Given the description of an element on the screen output the (x, y) to click on. 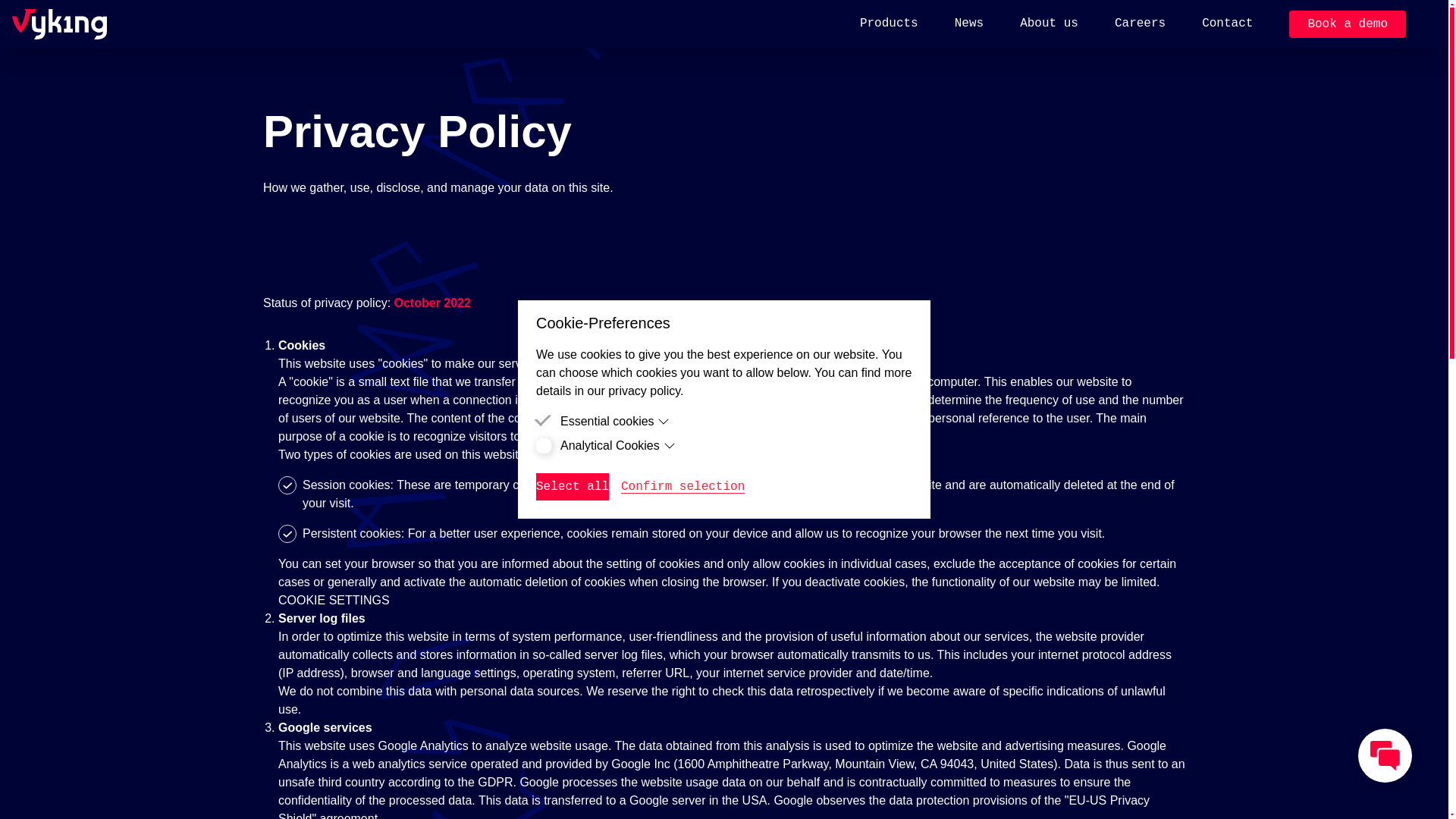
Select all (571, 486)
Contact (1227, 24)
Book a demo (1347, 23)
About us (1049, 24)
Confirm selection (682, 486)
News (969, 24)
Products (889, 24)
Careers (1140, 24)
